Given the description of an element on the screen output the (x, y) to click on. 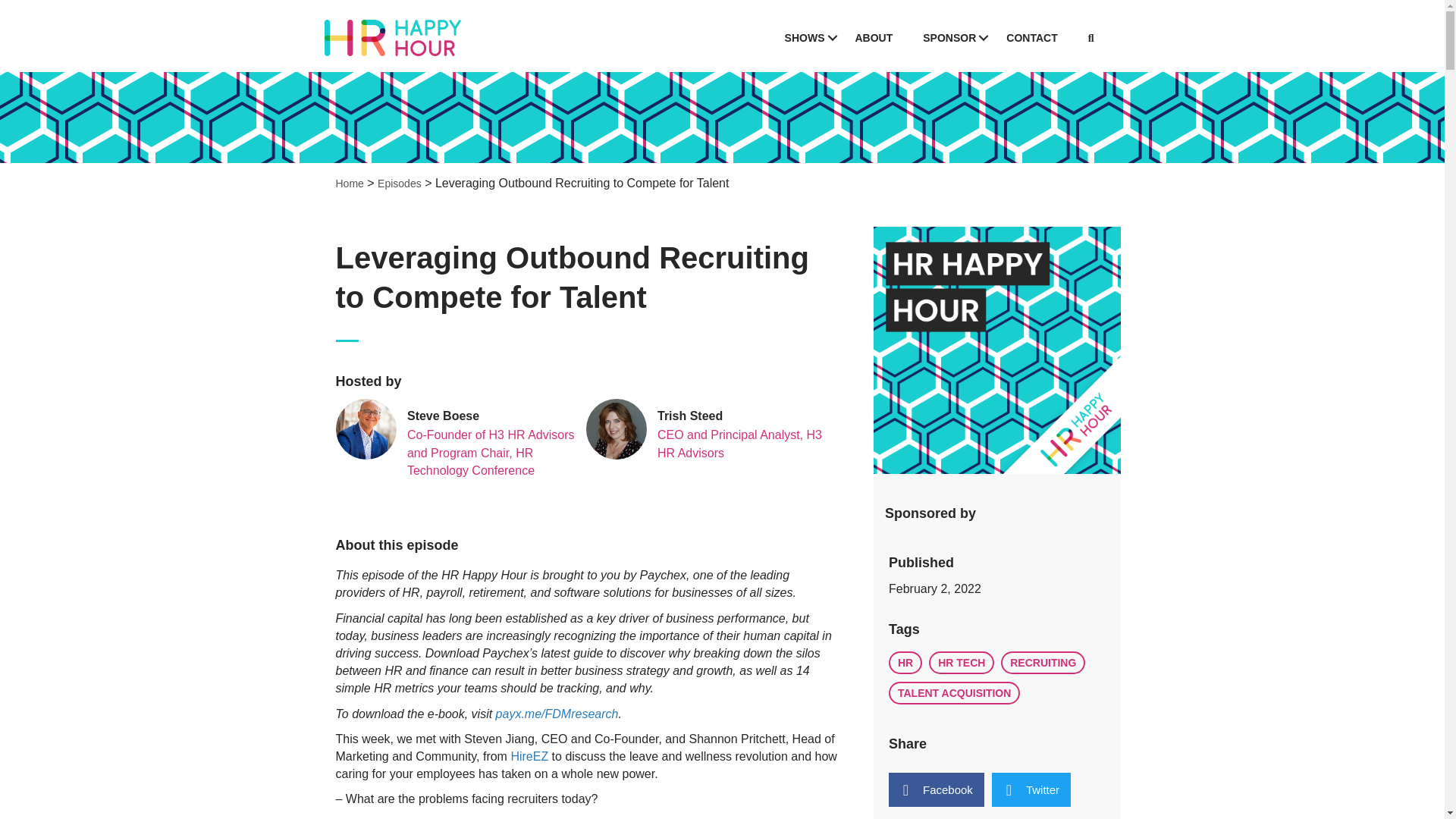
Facebook (936, 789)
Episodes (399, 183)
HR (904, 662)
logo-hrhappyhour (392, 37)
TALENT ACQUISITION (954, 692)
Home (348, 183)
SHOWS (805, 37)
RECRUITING (1042, 662)
Twitter (1030, 789)
SPONSOR (949, 37)
